Given the description of an element on the screen output the (x, y) to click on. 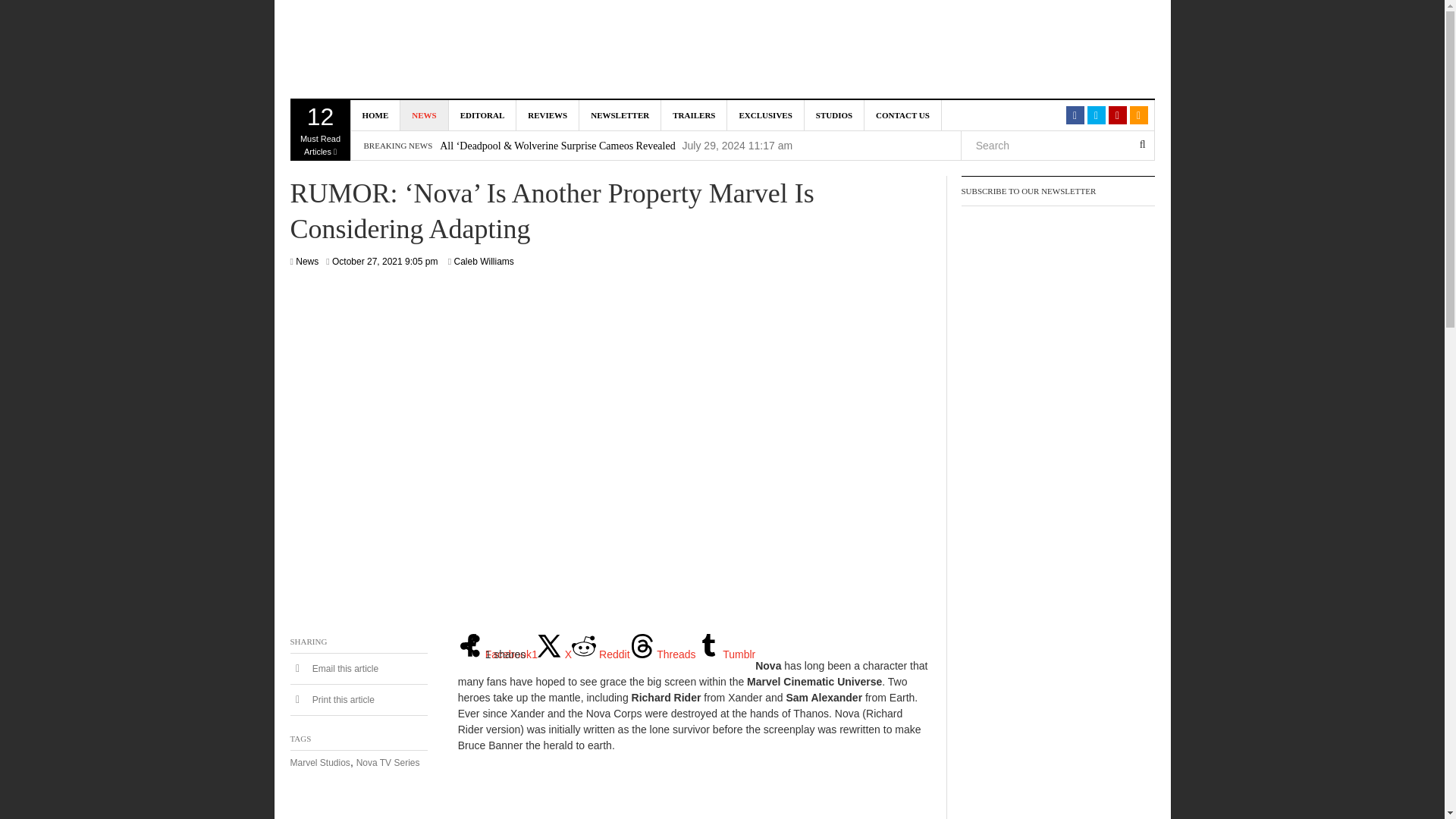
Share on Tumblr (725, 654)
Share on Threads (662, 654)
HOME (375, 114)
EXCLUSIVES (764, 114)
TRAILERS (693, 114)
EDITORAL (482, 114)
Share on Facebook (497, 654)
NEWS (319, 129)
REVIEWS (424, 114)
Share on Reddit (547, 114)
Knight Edge Media (600, 654)
NEWSLETTER (423, 50)
STUDIOS (620, 114)
Share on X (834, 114)
